Given the description of an element on the screen output the (x, y) to click on. 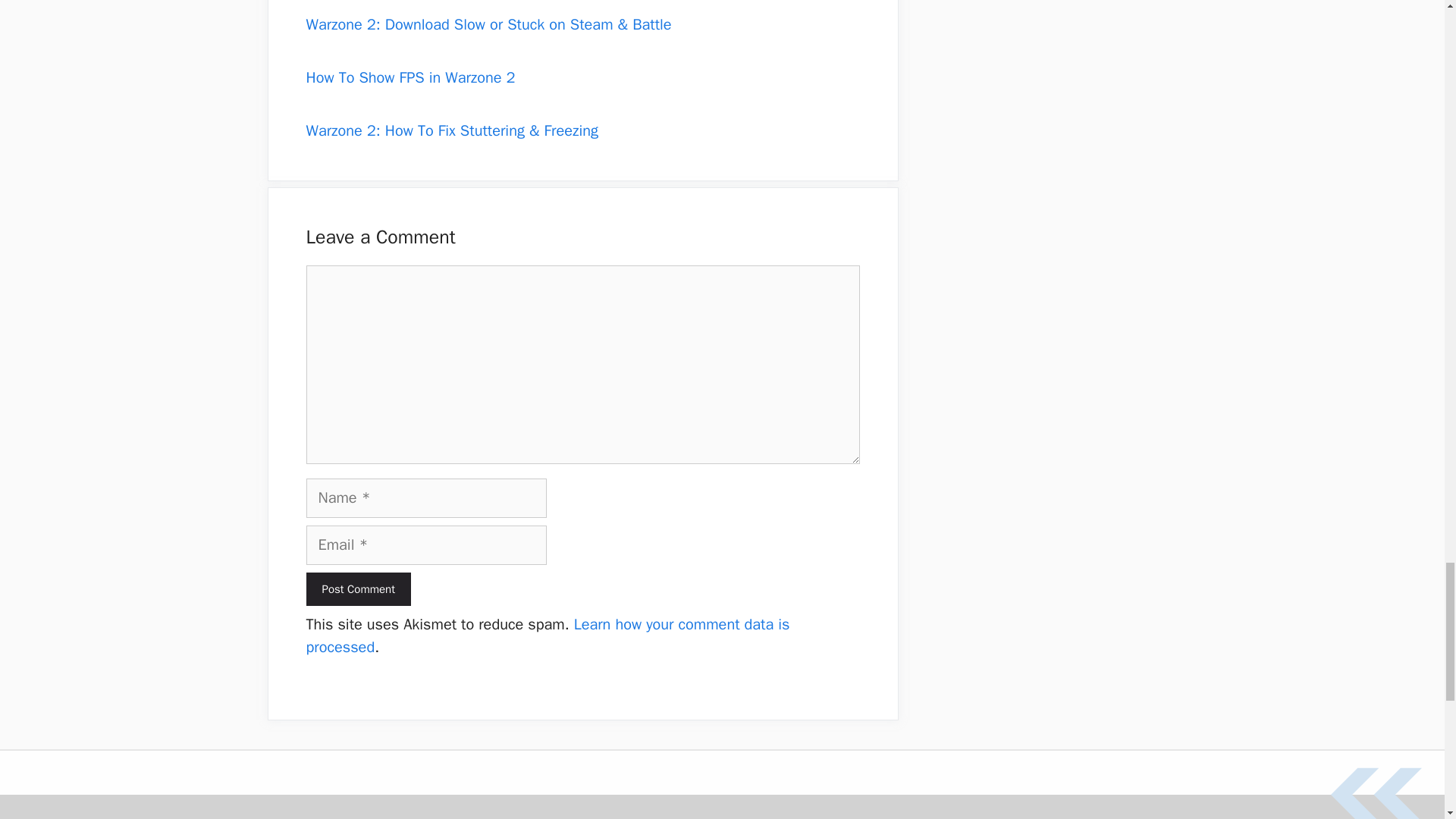
Post Comment (357, 589)
How To Show FPS in Warzone 2 (410, 76)
